Given the description of an element on the screen output the (x, y) to click on. 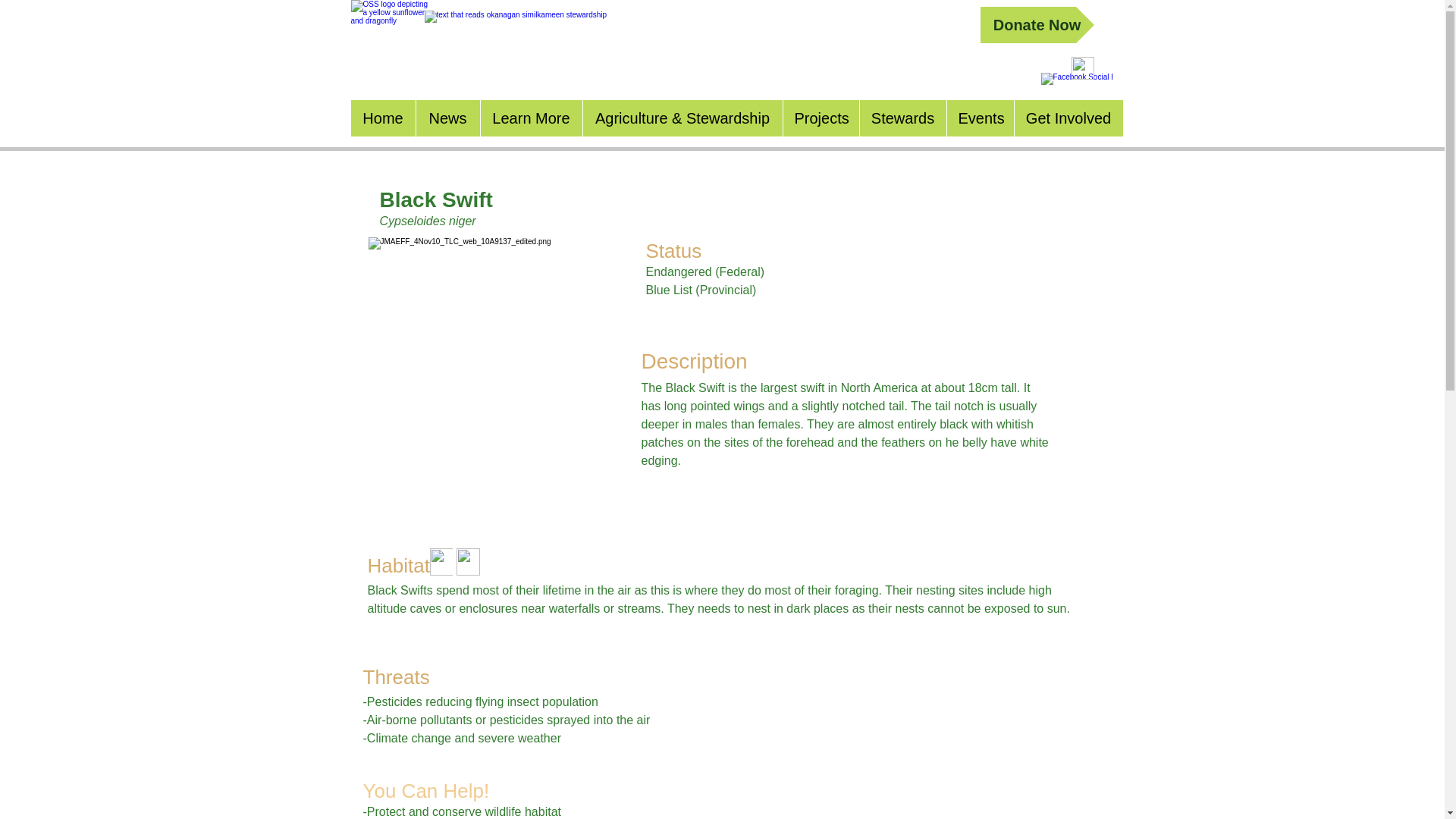
Stewards (901, 117)
Home (382, 117)
Get Involved (1067, 117)
Events (979, 117)
Learn More (529, 117)
Projects (821, 117)
News (447, 117)
Donate Now (1036, 24)
